Given the description of an element on the screen output the (x, y) to click on. 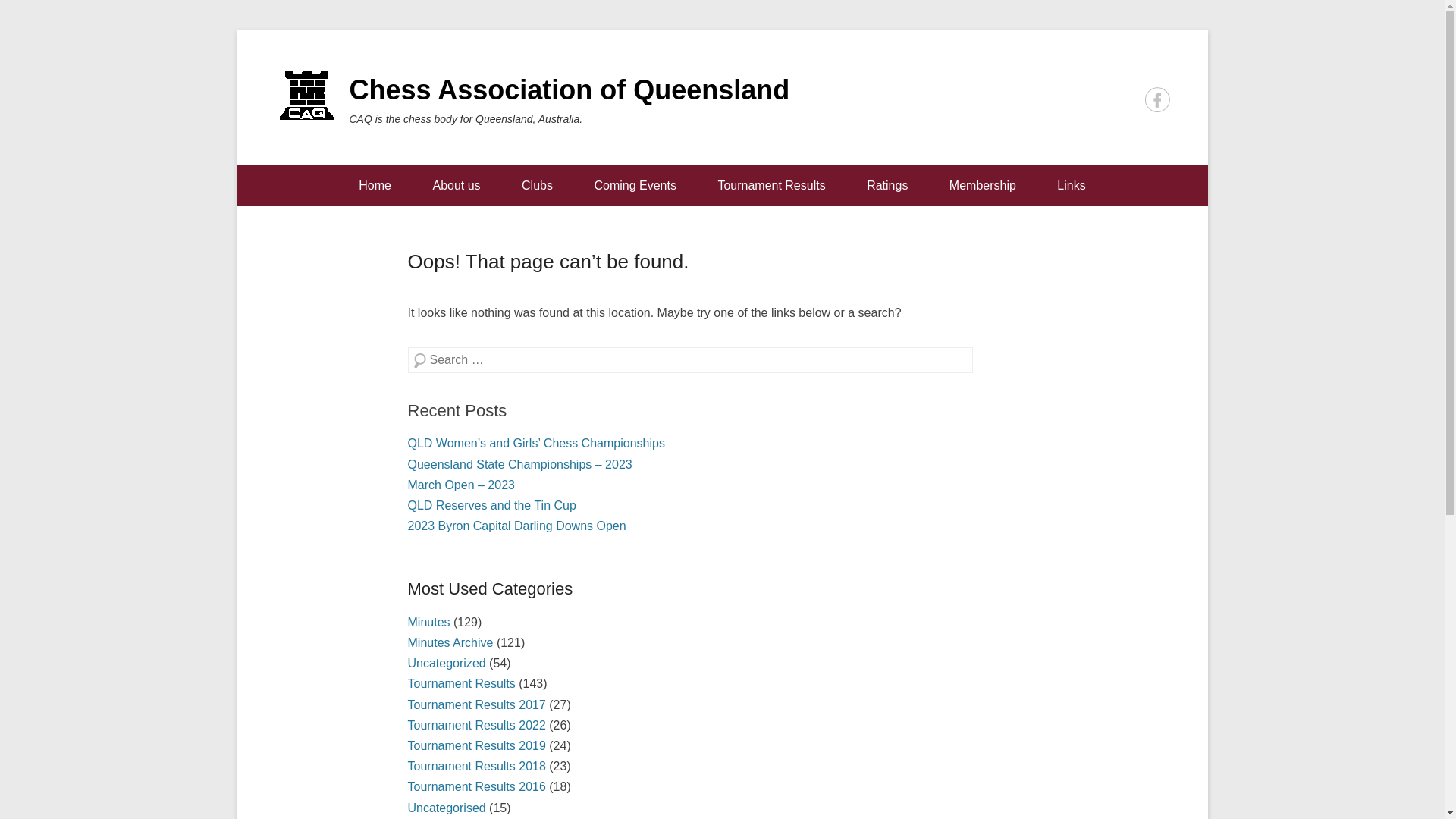
Uncategorized Element type: text (446, 662)
QLD Reserves and the Tin Cup Element type: text (491, 504)
Tournament Results Element type: text (771, 185)
2023 Byron Capital Darling Downs Open Element type: text (516, 525)
Search Element type: text (34, 19)
Tournament Results 2018 Element type: text (476, 765)
Chess Association of Queensland Element type: text (568, 89)
About us Element type: text (455, 185)
Facebook Element type: text (1157, 99)
Ratings Element type: text (886, 185)
Tournament Results Element type: text (461, 683)
Home Element type: text (374, 185)
Minutes Element type: text (428, 621)
Uncategorised Element type: text (446, 807)
Tournament Results 2022 Element type: text (476, 724)
Tournament Results 2019 Element type: text (476, 745)
Tournament Results 2016 Element type: text (476, 786)
Coming Events Element type: text (634, 185)
Minutes Archive Element type: text (450, 642)
Links Element type: text (1071, 185)
Tournament Results 2017 Element type: text (476, 704)
Membership Element type: text (982, 185)
Clubs Element type: text (536, 185)
